Given the description of an element on the screen output the (x, y) to click on. 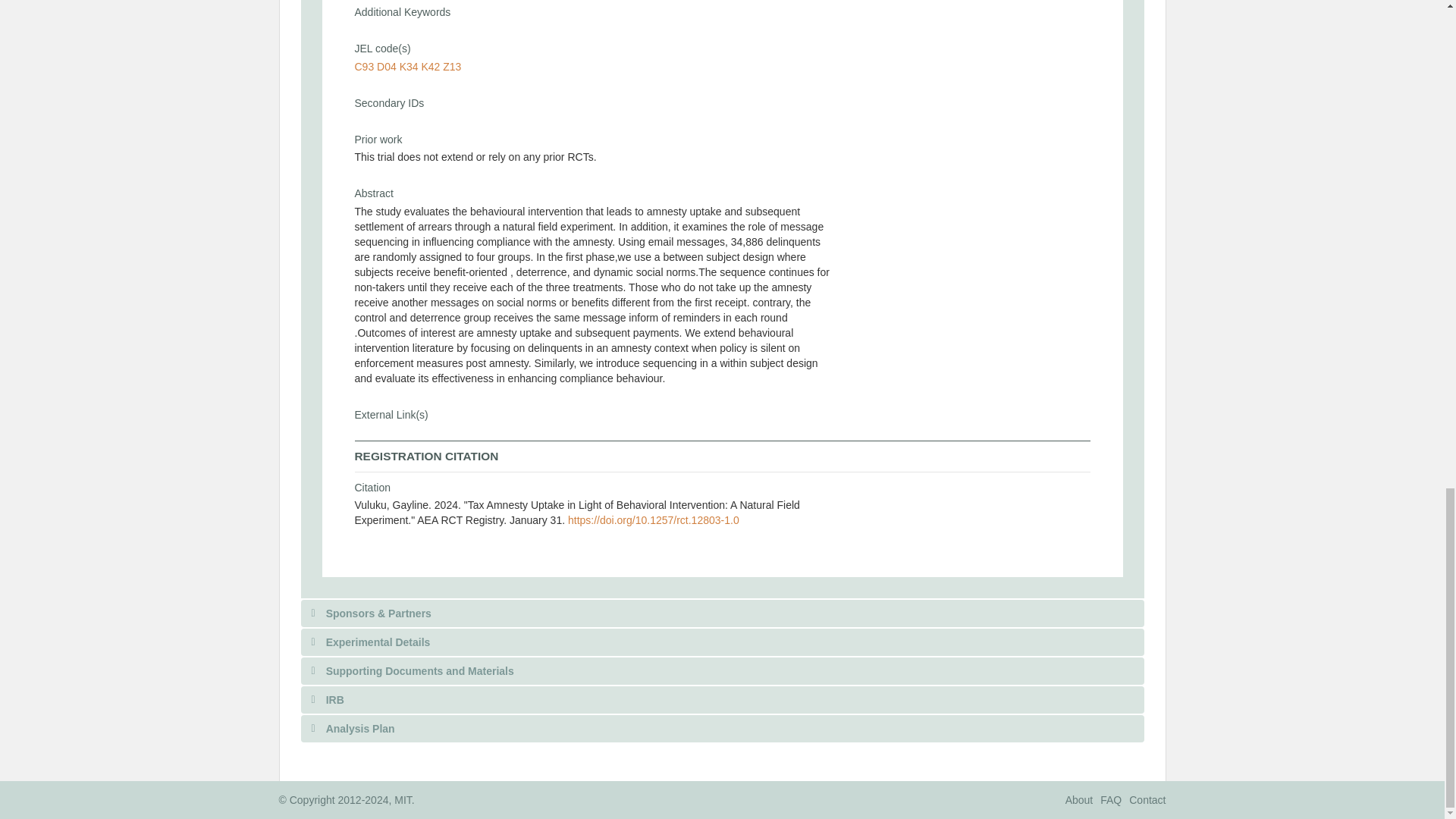
Experimental Details (720, 642)
IRB (720, 699)
C93 D04 K34 K42 Z13 (408, 66)
FAQ (1110, 799)
Contact (1147, 799)
About (1079, 799)
Supporting Documents and Materials (720, 670)
Analysis Plan (720, 728)
